Given the description of an element on the screen output the (x, y) to click on. 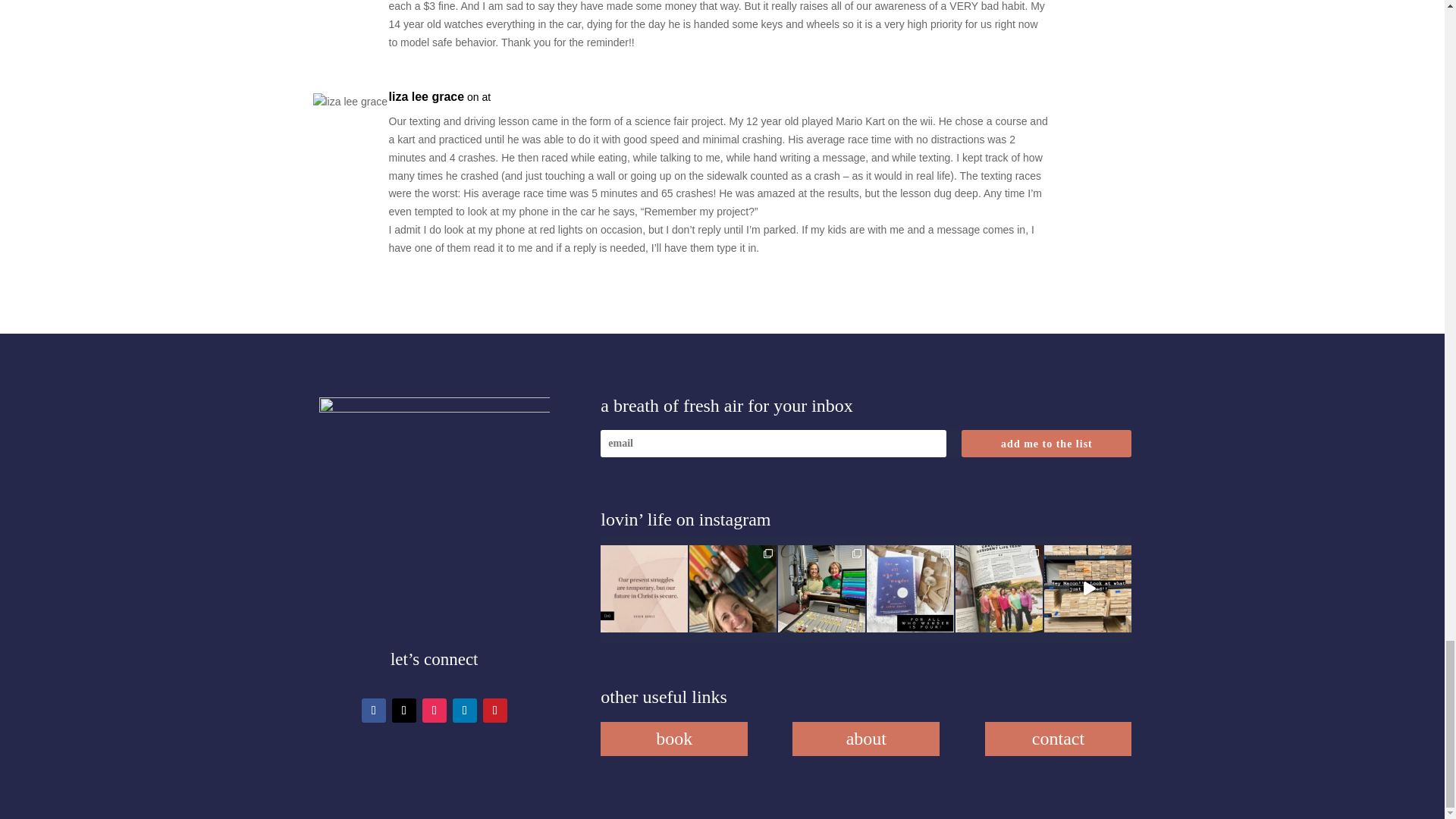
Follow on LinkedIn (464, 710)
Follow on Instagram (434, 710)
Follow on X (403, 710)
Follow on Pinterest (494, 710)
Follow on Facebook (373, 710)
